Given the description of an element on the screen output the (x, y) to click on. 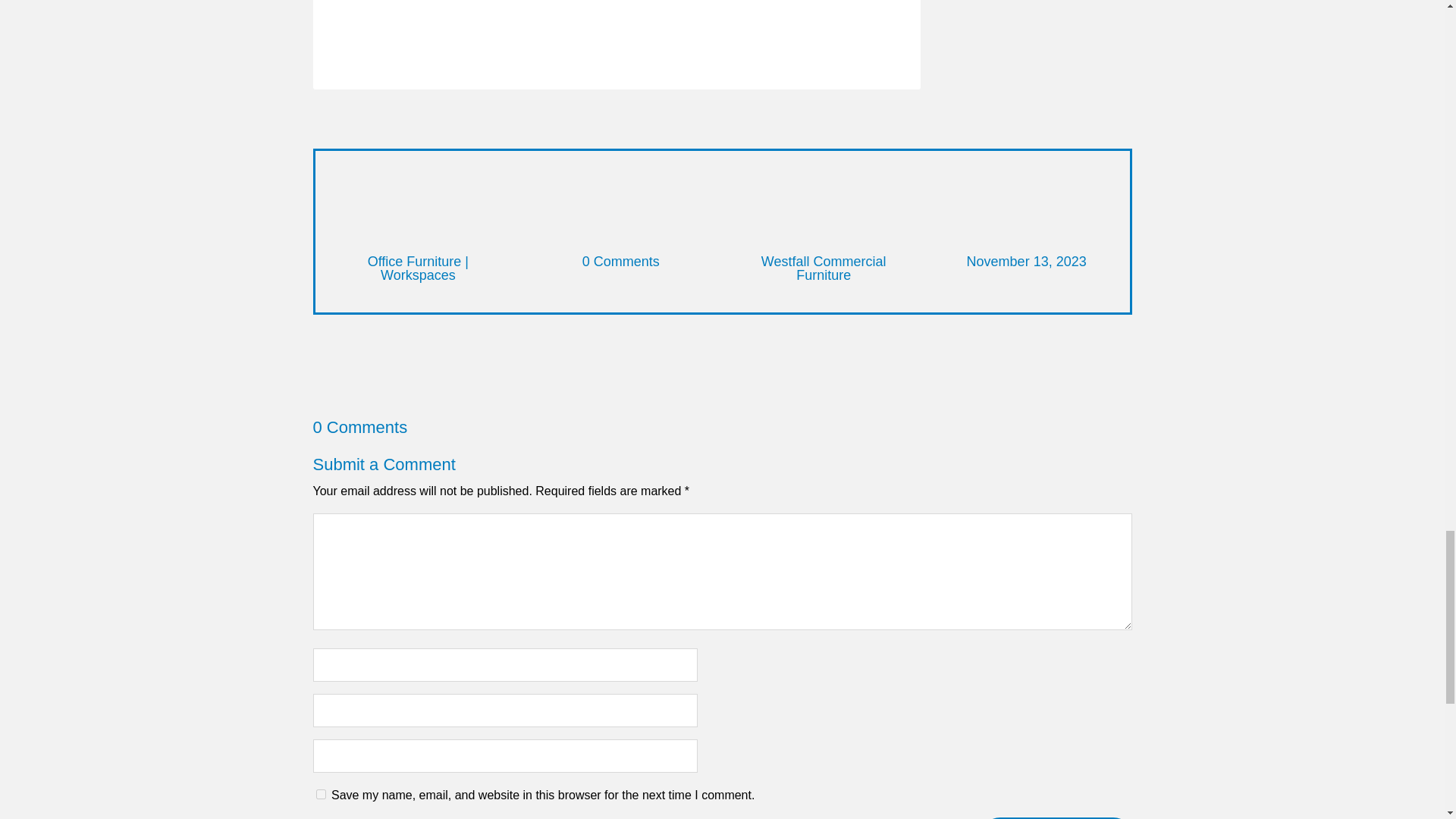
yes (319, 794)
0 Comments (620, 261)
Office Furniture (414, 261)
Workspaces (417, 274)
